Given the description of an element on the screen output the (x, y) to click on. 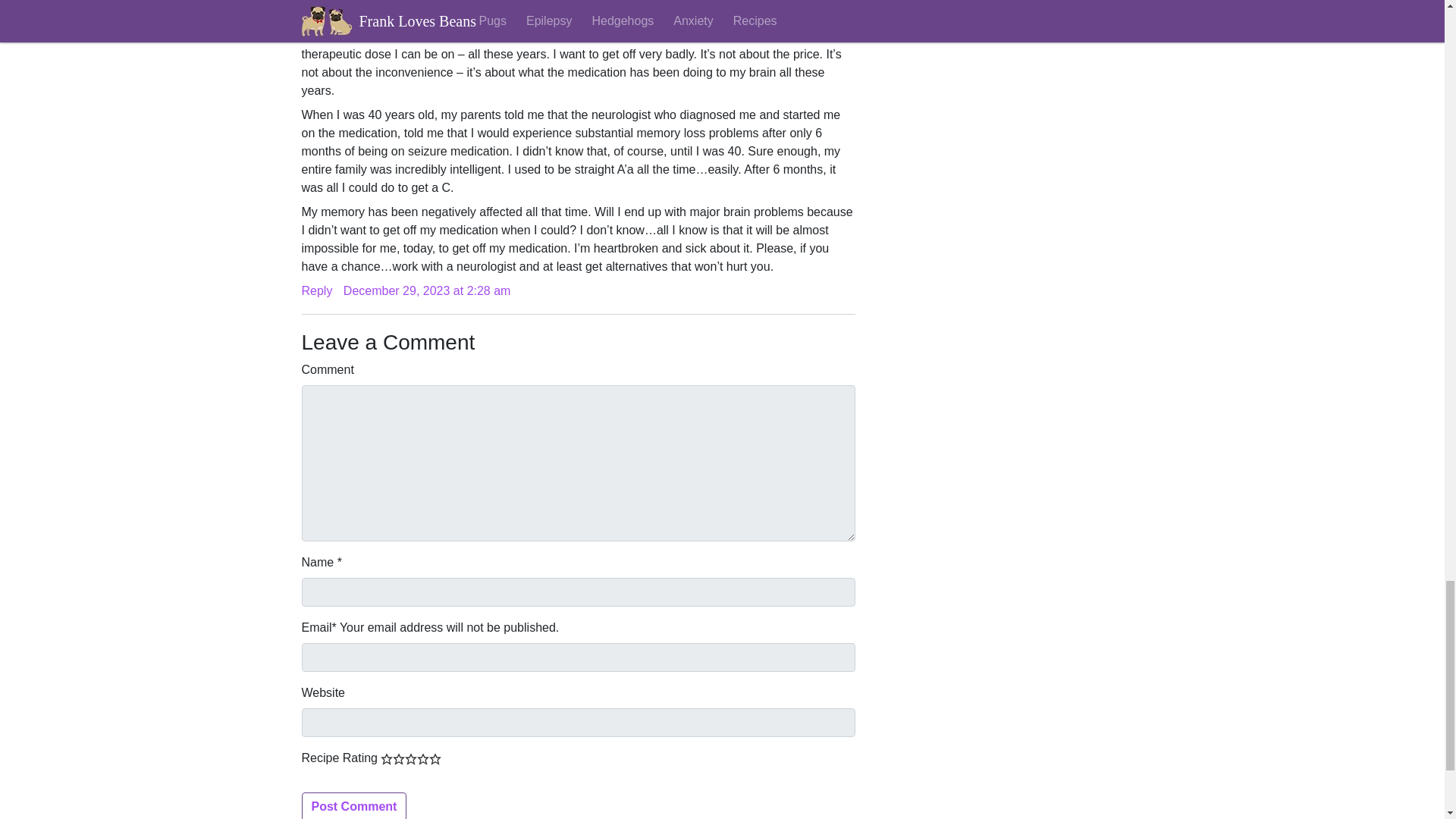
Post Comment (354, 805)
December 29, 2023 at 2:28 am (427, 290)
Reply (317, 290)
Post Comment (354, 805)
